Given the description of an element on the screen output the (x, y) to click on. 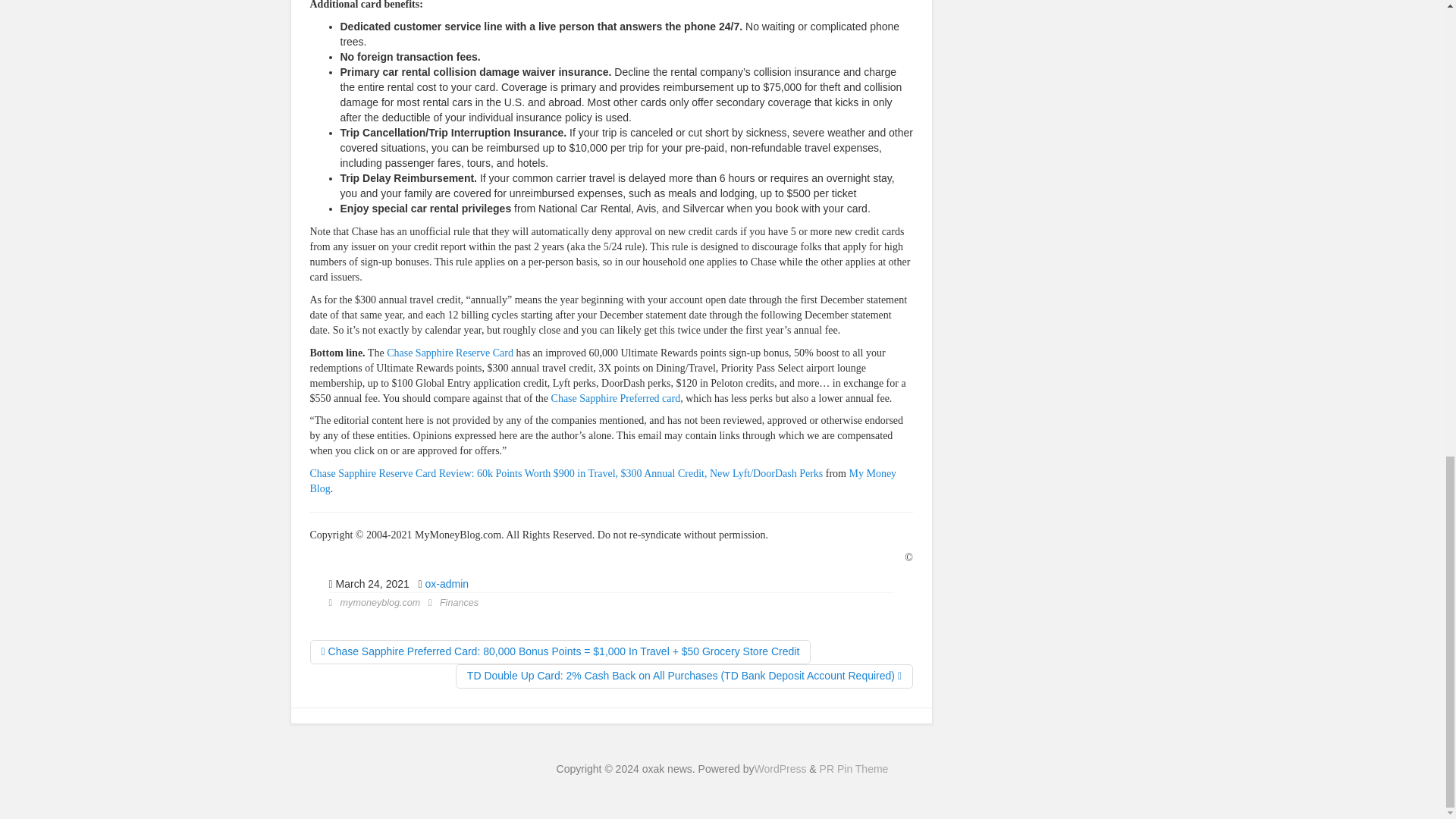
Posts by ox-admin (446, 583)
PR Pin Theme (853, 768)
My Money Blog (602, 480)
WordPress (780, 768)
Chase Sapphire Reserve Card (450, 352)
PR Pin Theme (853, 768)
Chase Sapphire Preferred card (616, 397)
ox-admin (446, 583)
WordPress (780, 768)
mymoneyblog.com (380, 602)
